Given the description of an element on the screen output the (x, y) to click on. 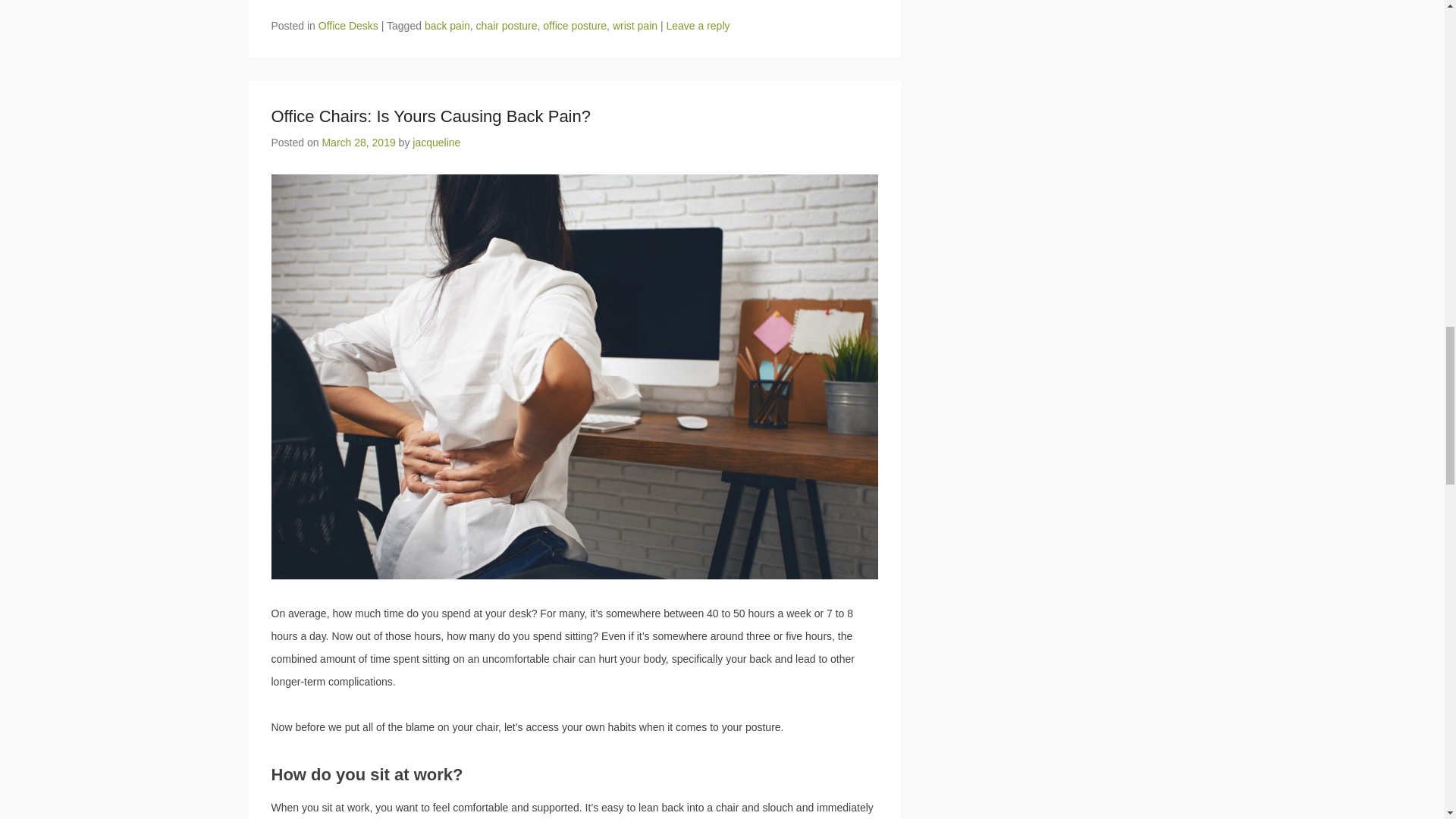
11:26 AM (357, 142)
View all posts by jacqueline (436, 142)
Permalink to Office Chairs: Is Yours Causing Back Pain? (430, 116)
